Given the description of an element on the screen output the (x, y) to click on. 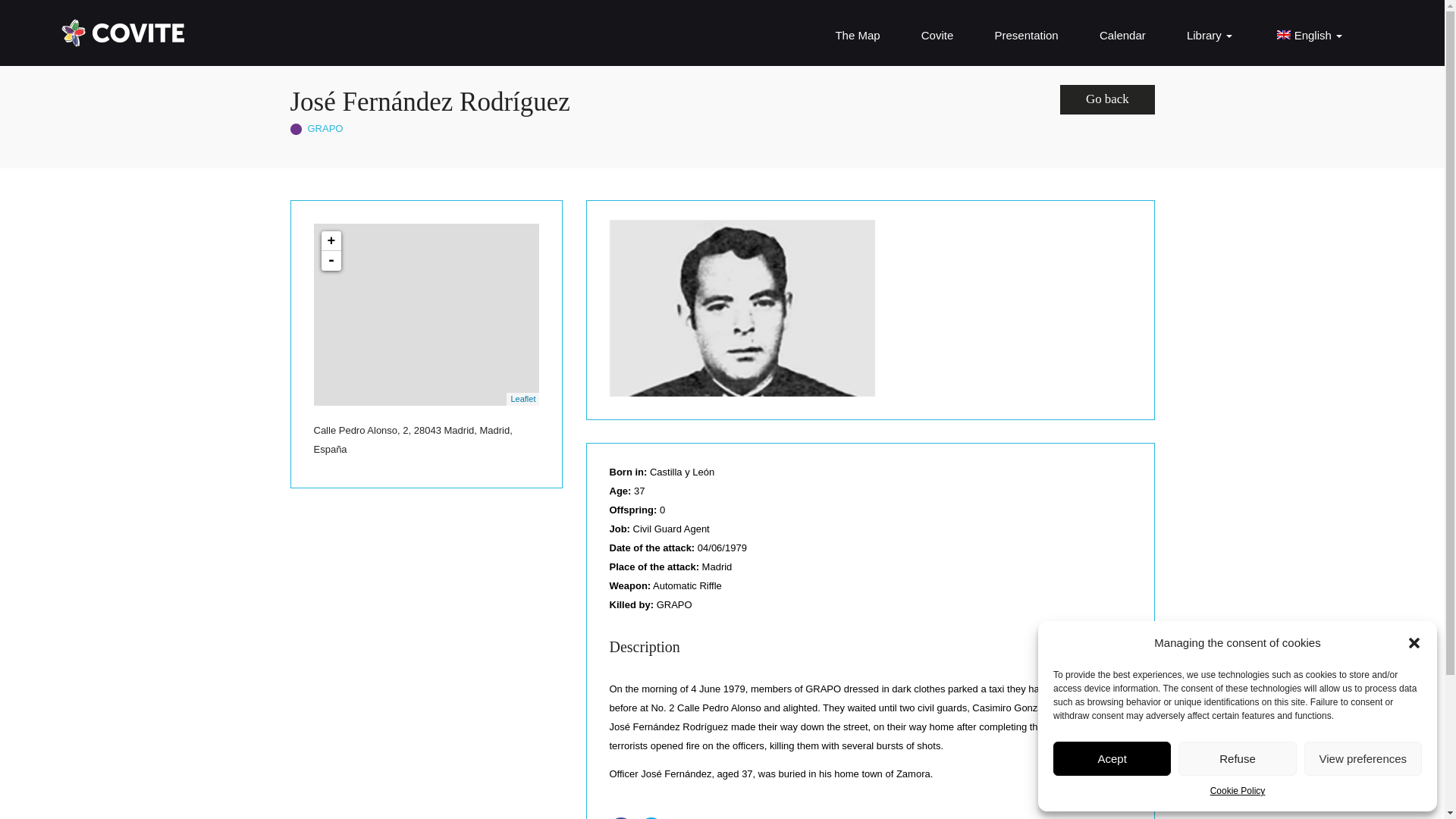
Share on Twitter (653, 818)
View preferences (1363, 758)
The Map (856, 34)
English (1307, 34)
Covite (937, 34)
Calendar (1122, 34)
Share on Facebook (623, 818)
Cookie Policy (1237, 791)
Refuse (1236, 758)
A JS library for interactive maps (523, 398)
Acept (1111, 758)
Presentation (1026, 34)
Library (1208, 34)
Zoom in (330, 240)
Zoom out (330, 260)
